Given the description of an element on the screen output the (x, y) to click on. 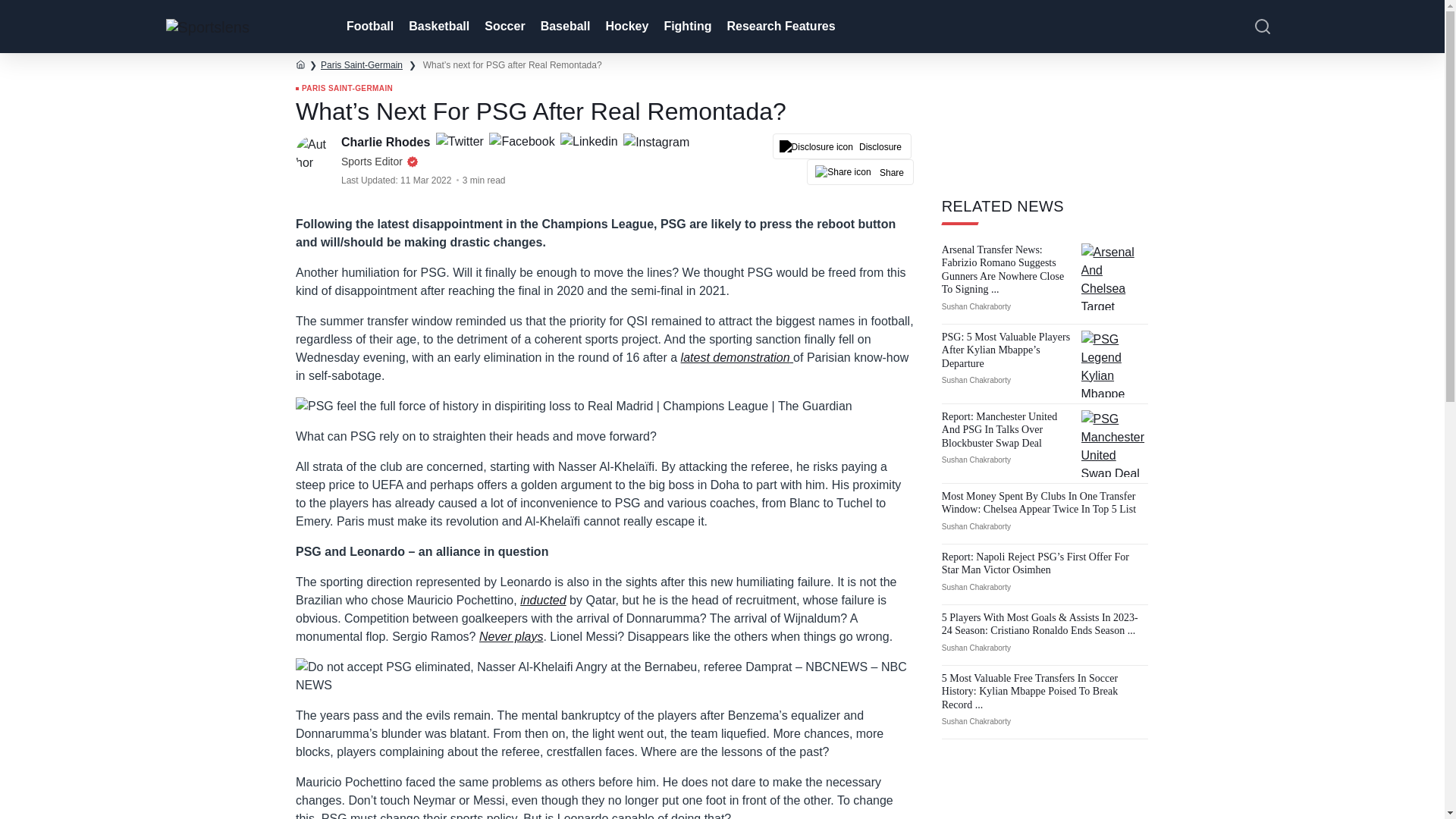
Research Features (779, 26)
Charlie Rhodes (386, 141)
Paris Saint-Germain (361, 64)
Baseball (563, 26)
PARIS SAINT-GERMAIN (344, 88)
Fighting (685, 26)
Soccer (503, 26)
inducted (542, 599)
Share (860, 171)
Never plays (511, 635)
